Given the description of an element on the screen output the (x, y) to click on. 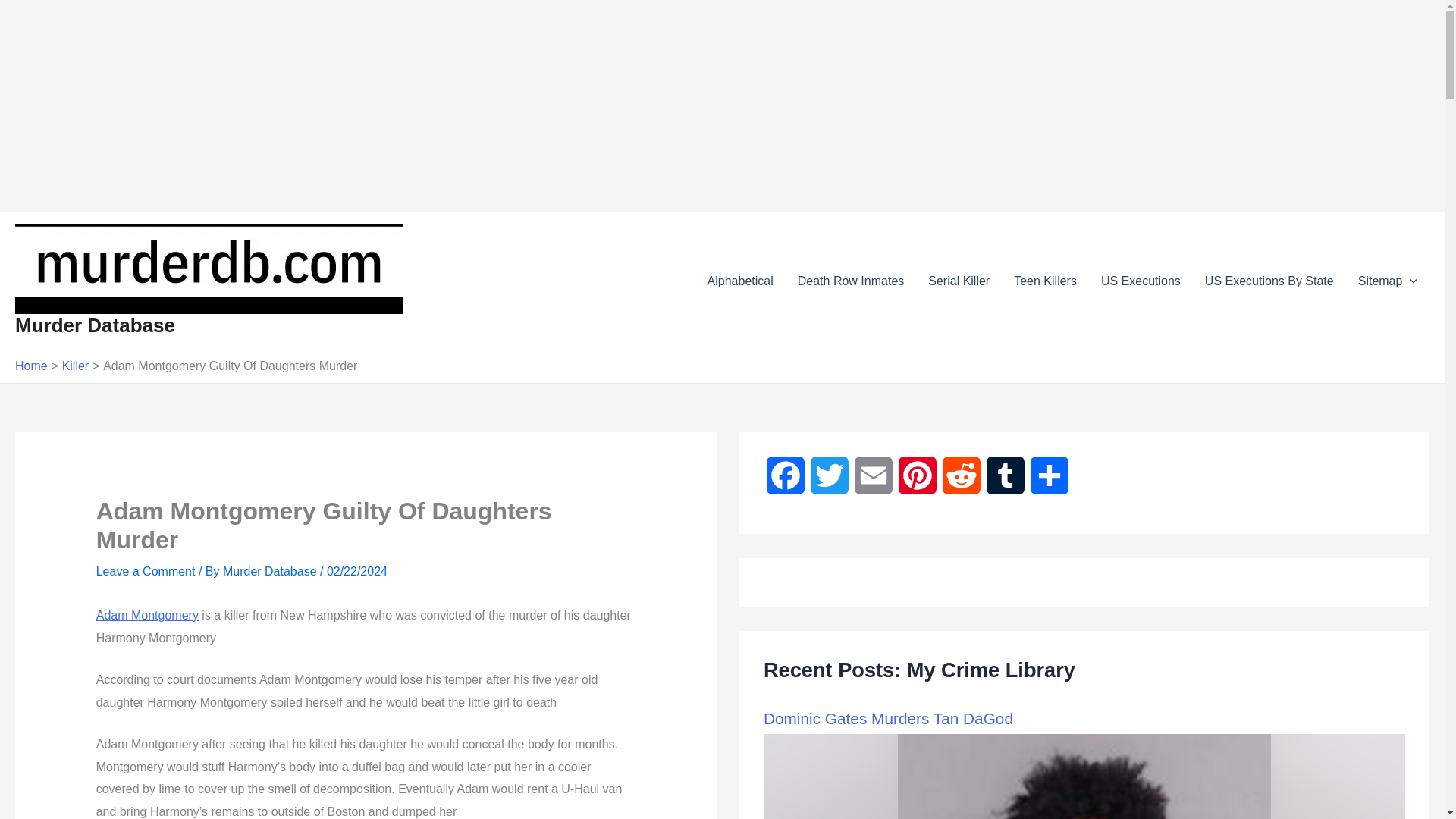
US Executions (1140, 281)
Alphabetical (740, 281)
Adam Montgomery (147, 615)
US Executions By State (1268, 281)
Death Row Inmates (851, 281)
Serial Killer (958, 281)
View all posts by Murder Database (271, 571)
Teen Killers (1045, 281)
Sitemap (1387, 281)
Murder Database (94, 324)
